Given the description of an element on the screen output the (x, y) to click on. 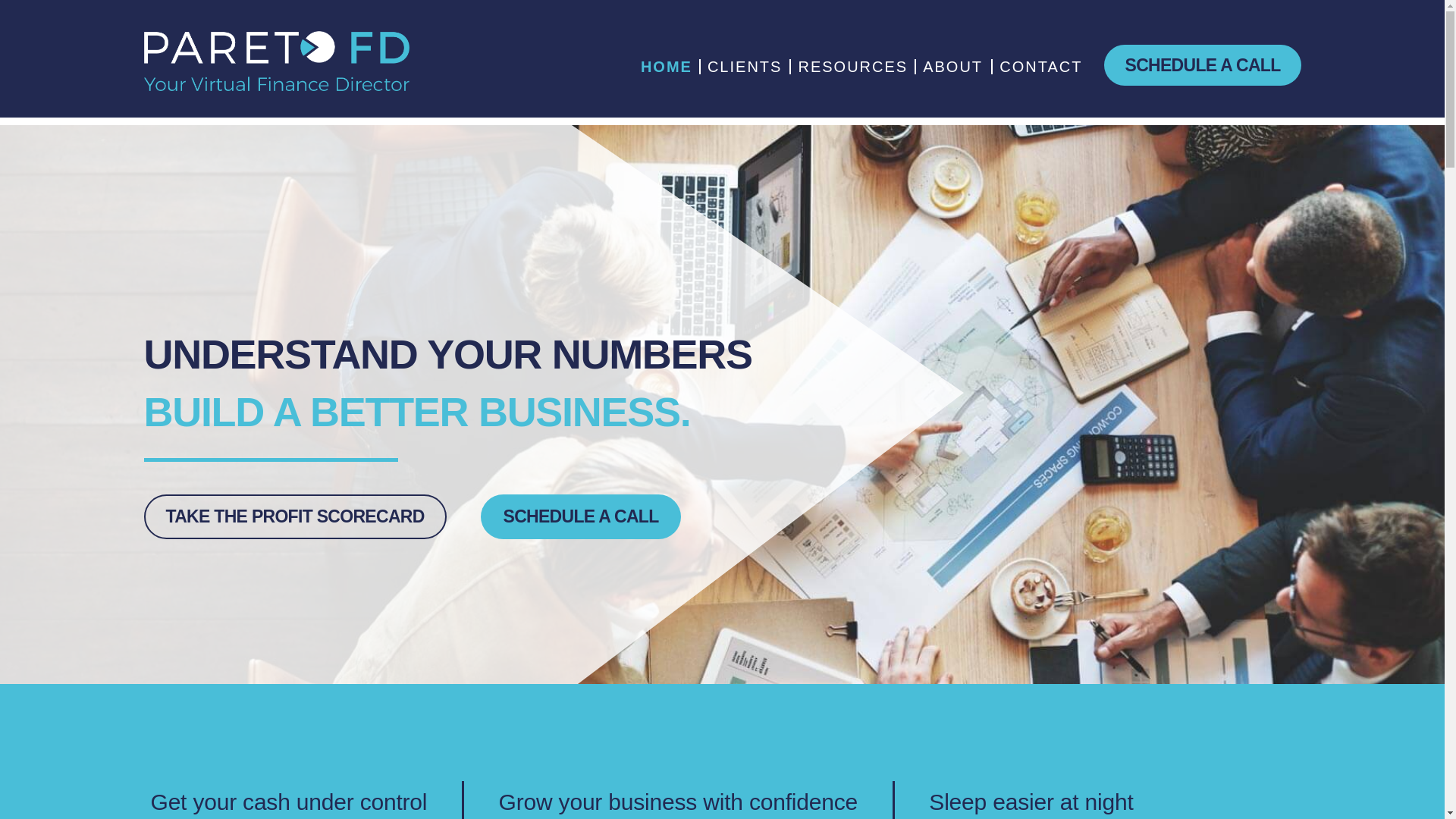
Get your cash under control (287, 802)
Clients (745, 66)
Sleep easier at night (1030, 802)
Get your cash under control (287, 802)
TAKE THE PROFIT SCORECARD (286, 516)
RESOURCES (852, 66)
Home (666, 66)
CLIENTS (745, 66)
HOME (666, 66)
ABOUT (953, 66)
Schedule a Call (1201, 65)
SCHEDULE A CALL (18, 516)
Schedule a Call (577, 516)
CONTACT (1039, 66)
Sleep easier at night (1030, 802)
